Given the description of an element on the screen output the (x, y) to click on. 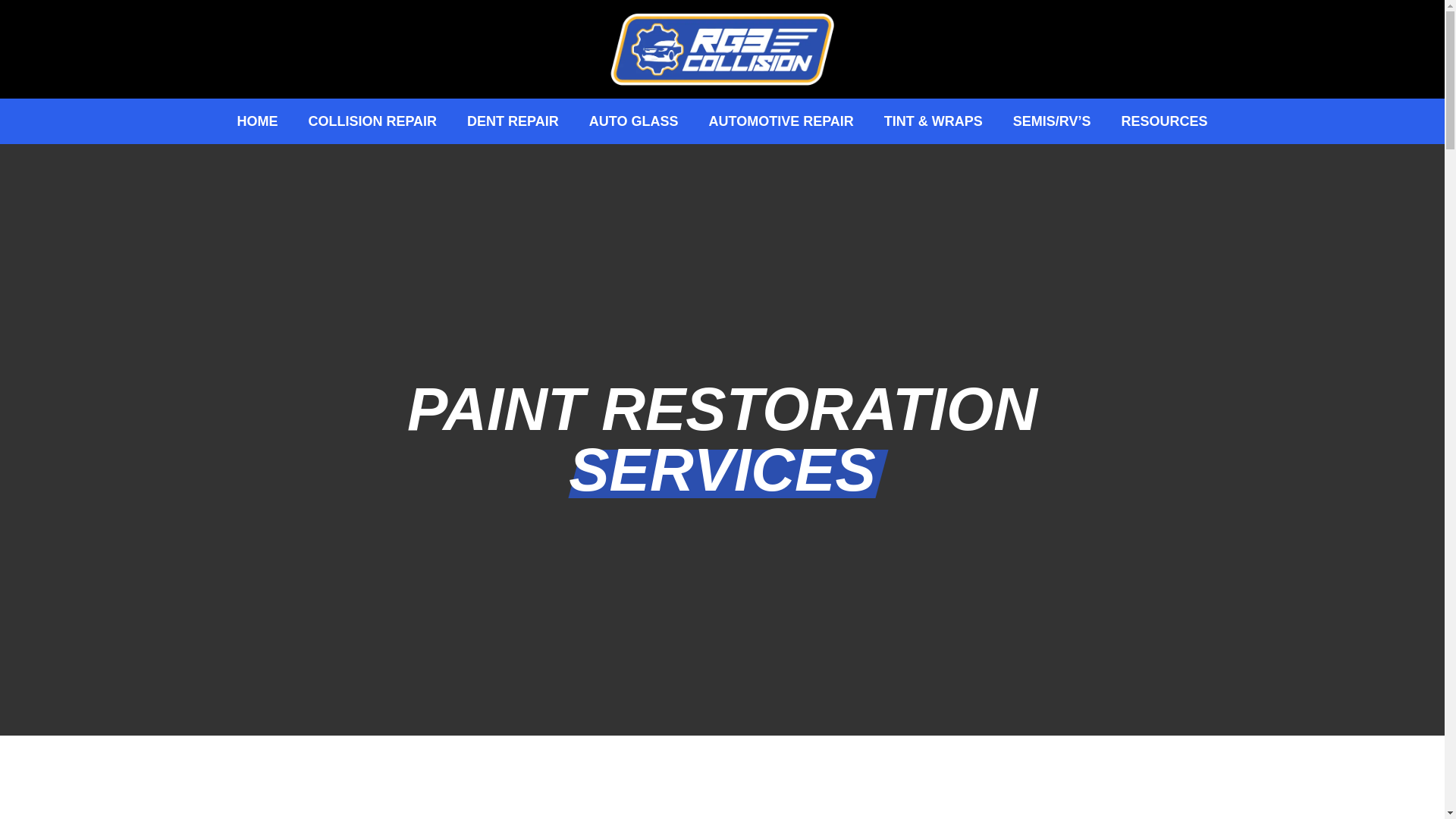
DENT REPAIR (512, 121)
RESOURCES (1164, 121)
AUTO GLASS (633, 121)
HOME (256, 121)
AUTOMOTIVE REPAIR (780, 121)
COLLISION REPAIR (371, 121)
